Given the description of an element on the screen output the (x, y) to click on. 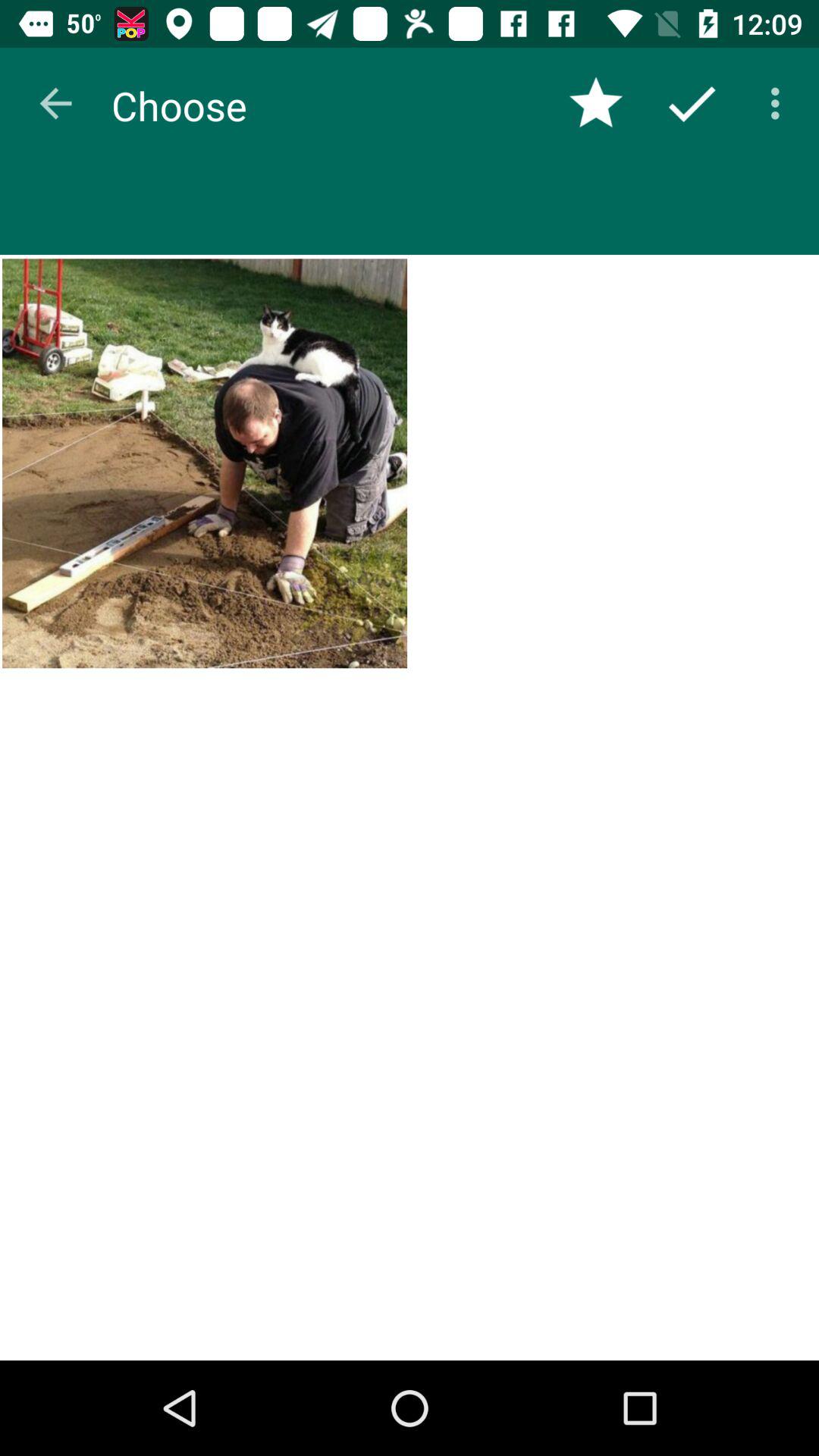
select item next to choose item (55, 103)
